Given the description of an element on the screen output the (x, y) to click on. 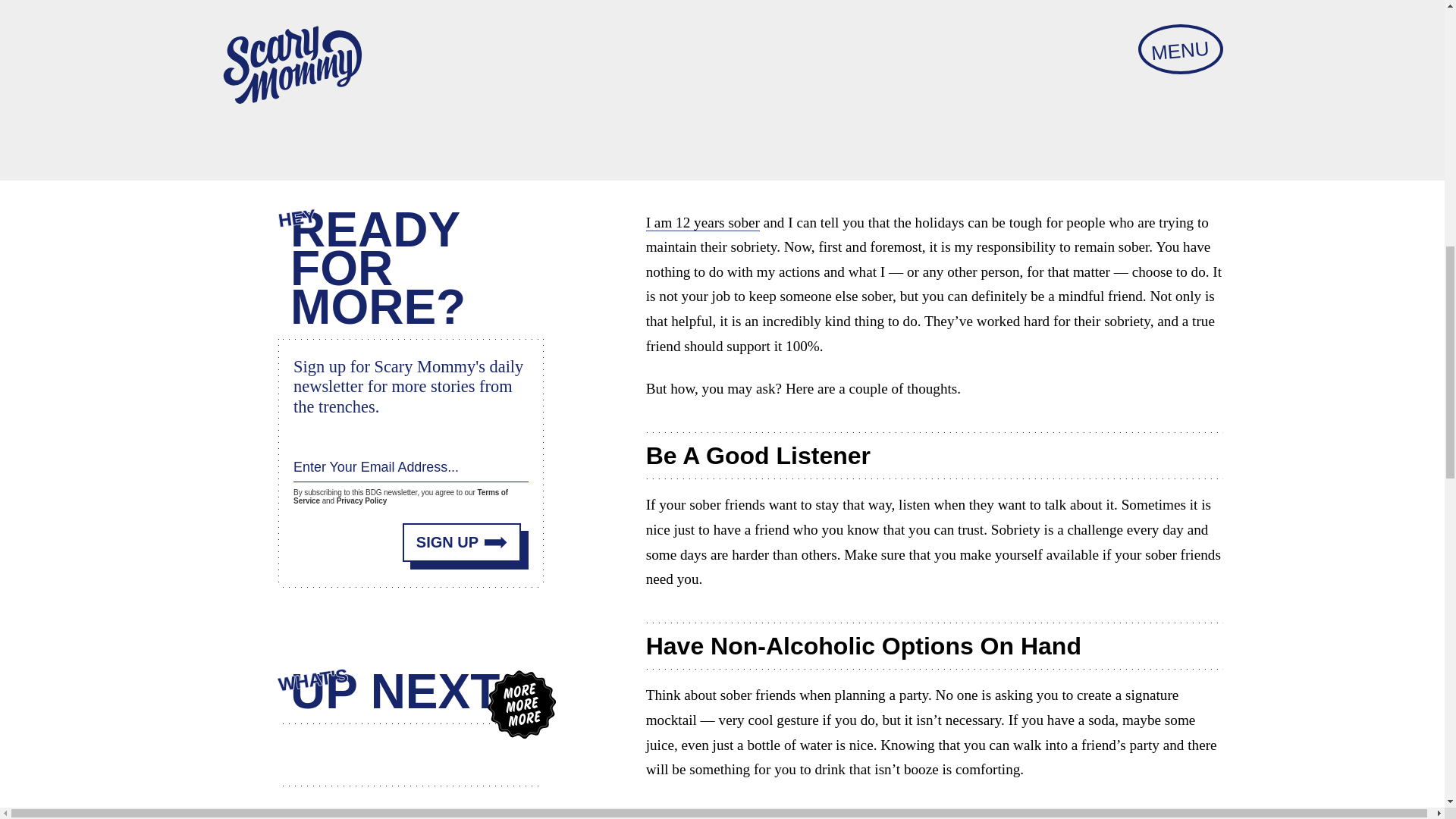
SIGN UP (462, 542)
Privacy Policy (361, 500)
I am 12 years sober (703, 222)
Terms of Service (401, 496)
